Given the description of an element on the screen output the (x, y) to click on. 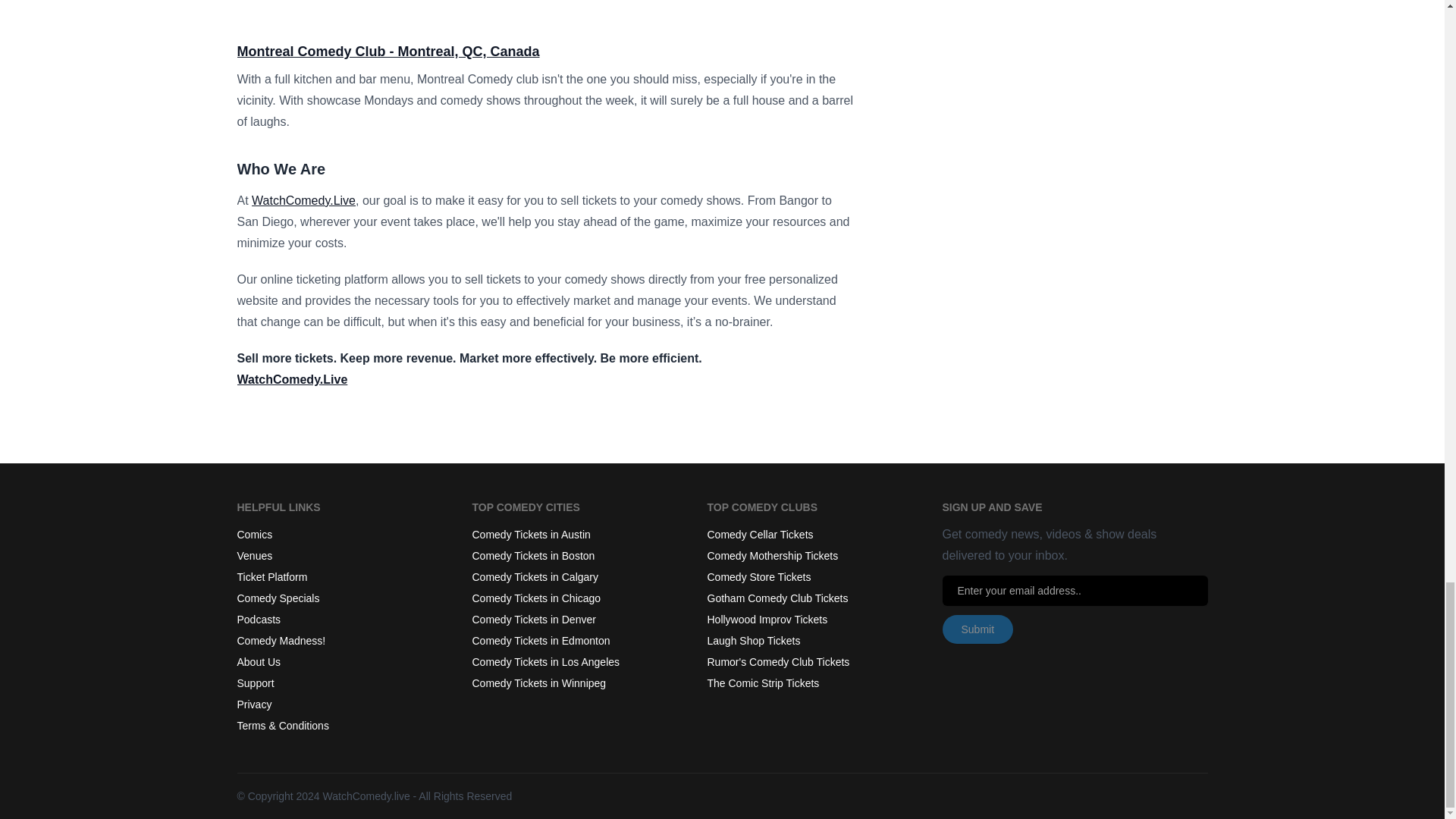
Montreal Comedy Club - Montreal, QC, Canada (386, 51)
Privacy (252, 704)
Ticket Platform (271, 576)
Comics (253, 534)
Comedy Tickets in Boston (532, 555)
Comedy Tickets in Calgary (534, 576)
WatchComedy.Live (291, 379)
Comedy Madness! (279, 640)
Comedy Tickets in Edmonton (540, 640)
Comedy Specials (276, 598)
